Given the description of an element on the screen output the (x, y) to click on. 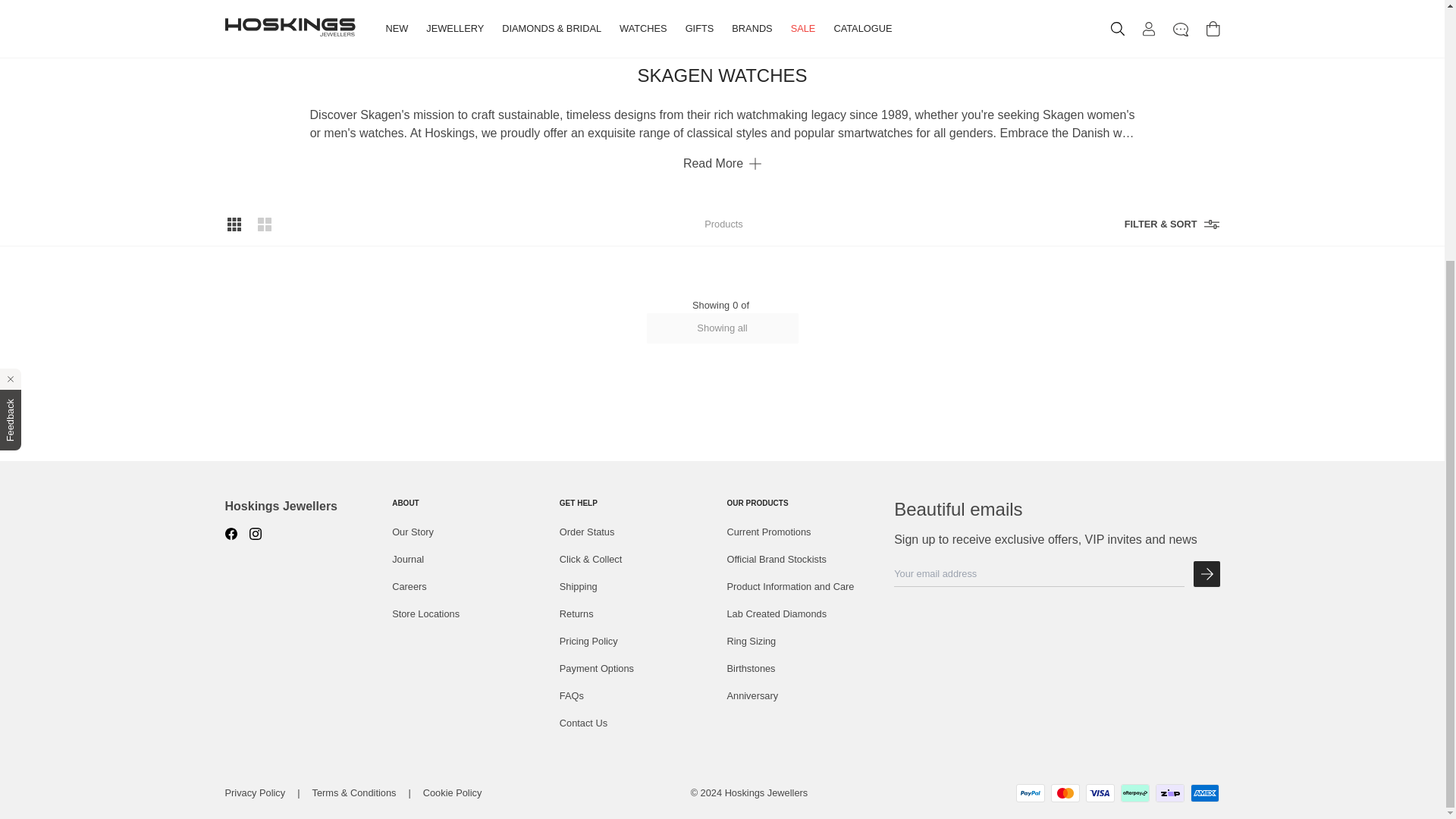
Order Status (638, 531)
Shipping (638, 586)
Official Brand Stockists (805, 559)
Current Promotions (805, 531)
Read More (722, 157)
FAQs (638, 695)
Journal (470, 559)
Showing all (721, 327)
Contact Us (638, 723)
Careers (470, 586)
